Given the description of an element on the screen output the (x, y) to click on. 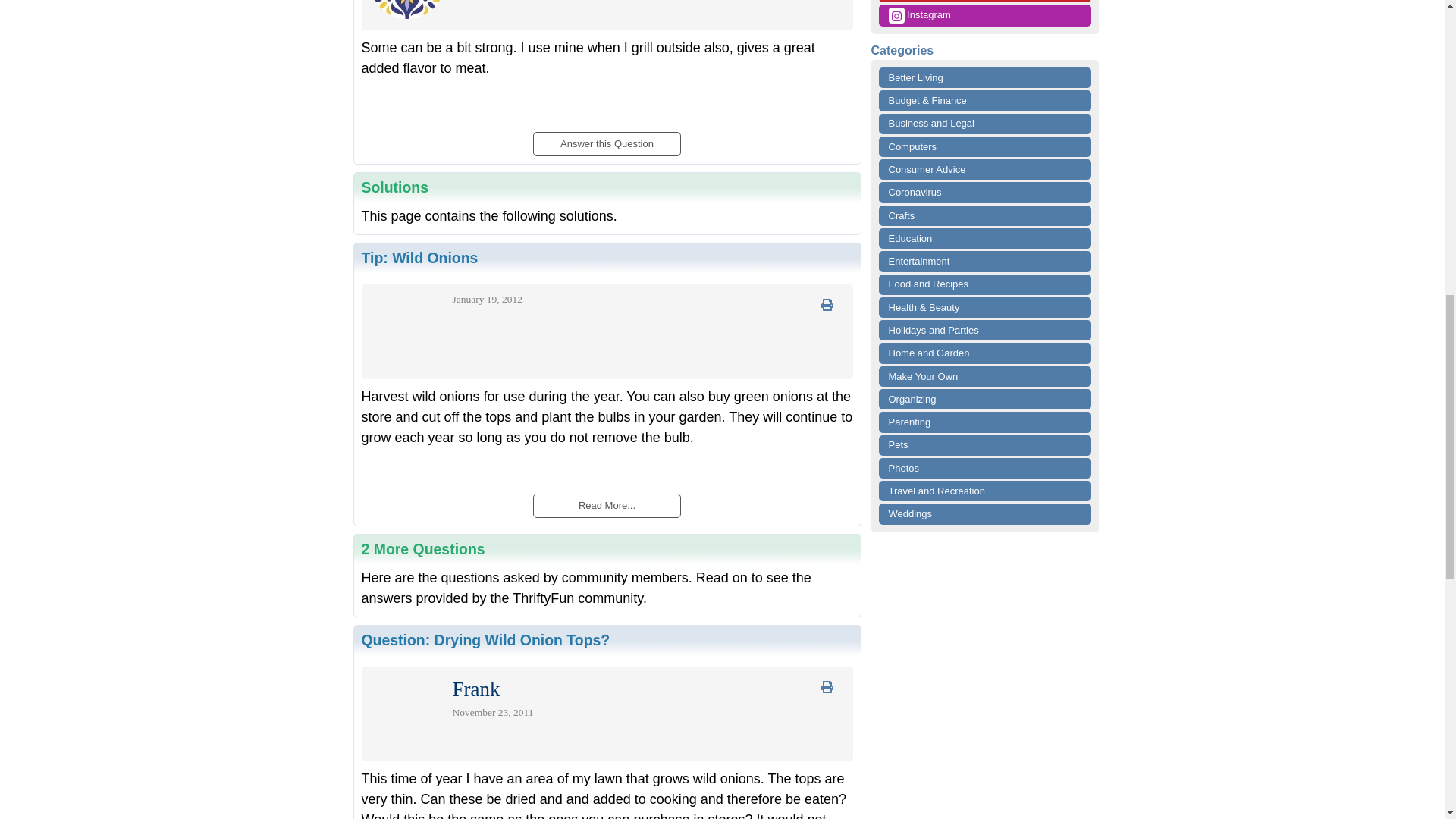
Tip: Wild Onions (419, 257)
Answer this Question (605, 139)
Frank (475, 692)
Read More... (605, 504)
Question: Drying Wild Onion Tops? (485, 639)
